Given the description of an element on the screen output the (x, y) to click on. 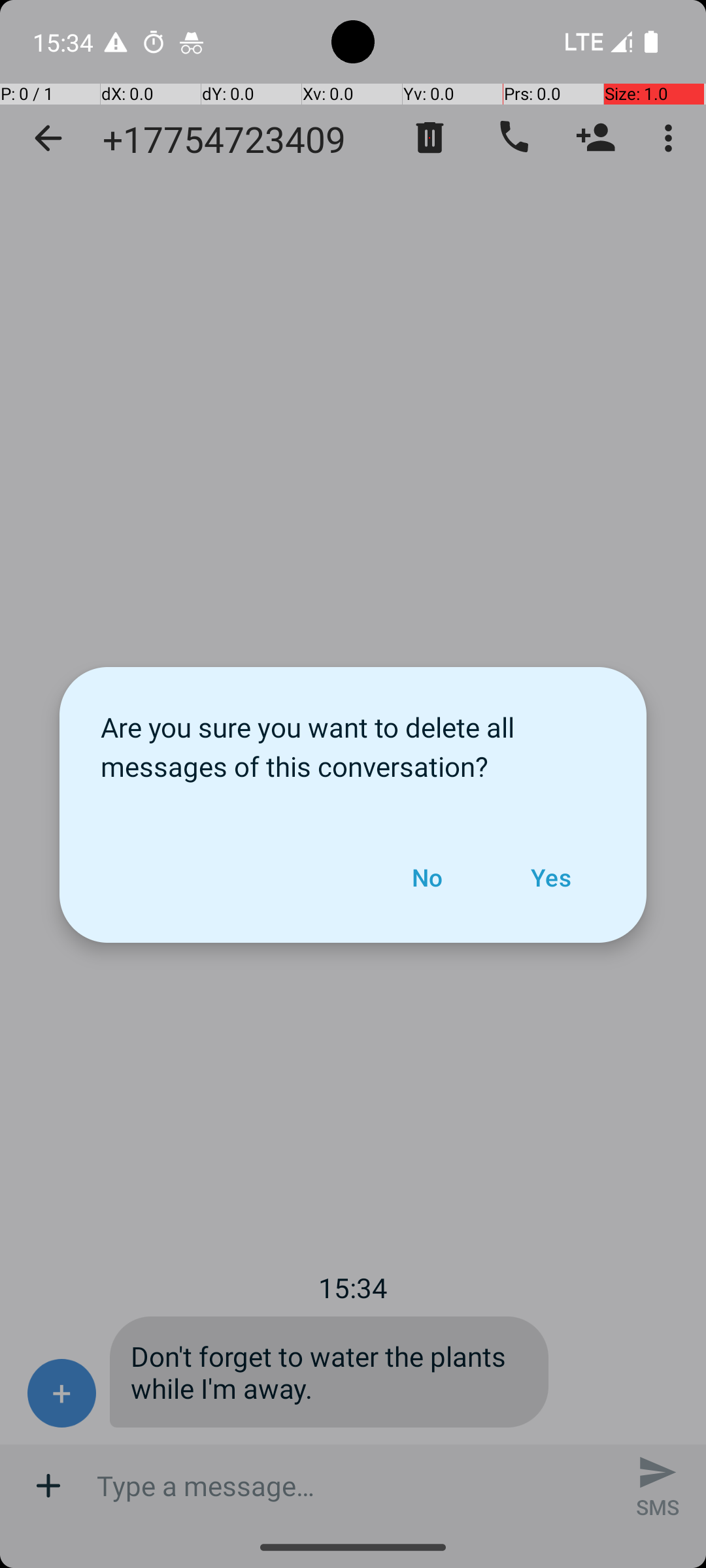
Are you sure you want to delete all messages of this conversation? Element type: android.widget.TextView (352, 739)
No Element type: android.widget.Button (426, 877)
Yes Element type: android.widget.Button (550, 877)
